Given the description of an element on the screen output the (x, y) to click on. 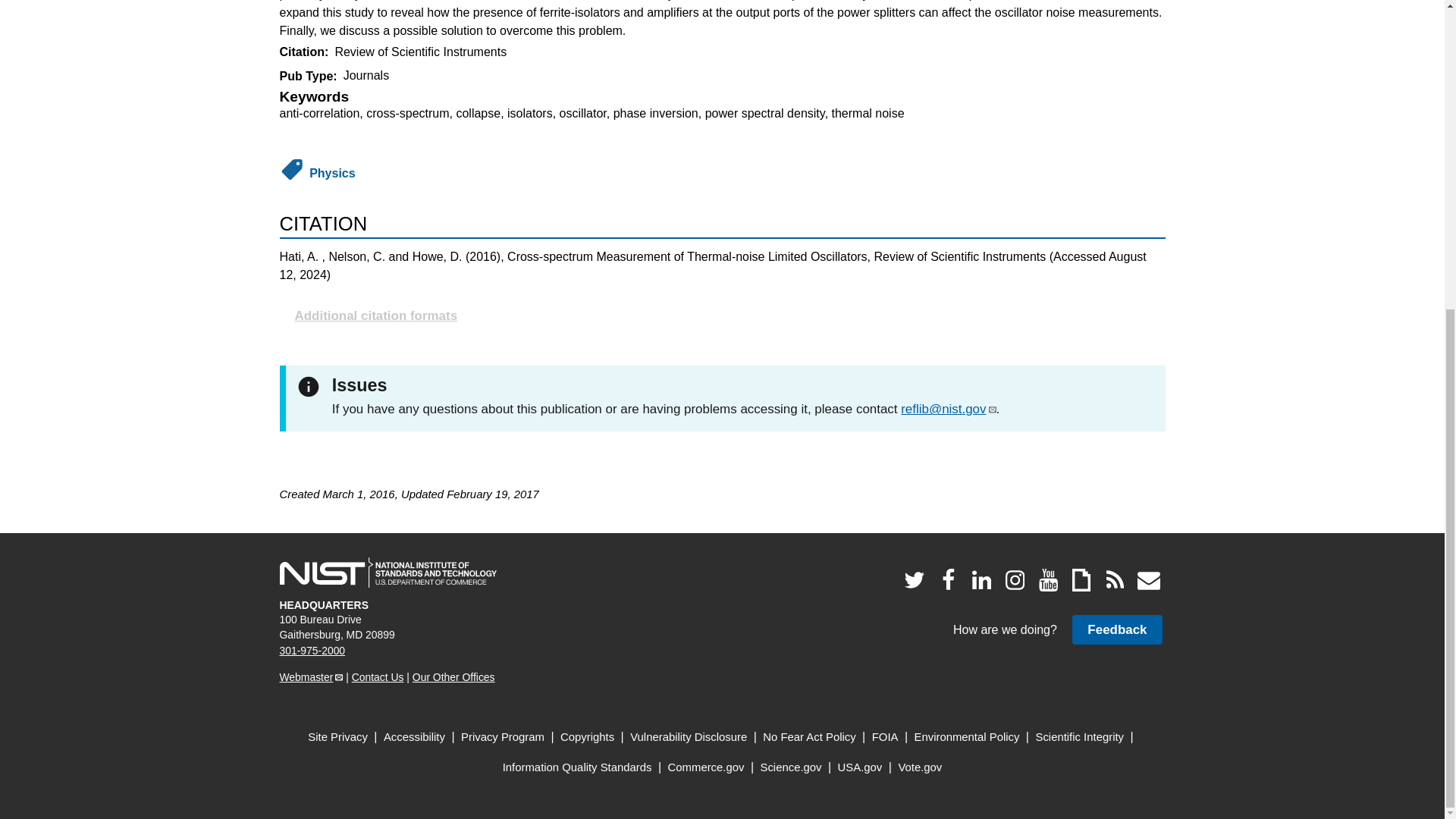
Feedback (1116, 629)
Provide feedback (1116, 629)
No Fear Act Policy (809, 736)
Accessibility (414, 736)
FOIA (885, 736)
Environmental Policy (967, 736)
Copyrights (587, 736)
Scientific Integrity (1079, 736)
Our Other Offices (453, 676)
Webmaster (310, 676)
